Given the description of an element on the screen output the (x, y) to click on. 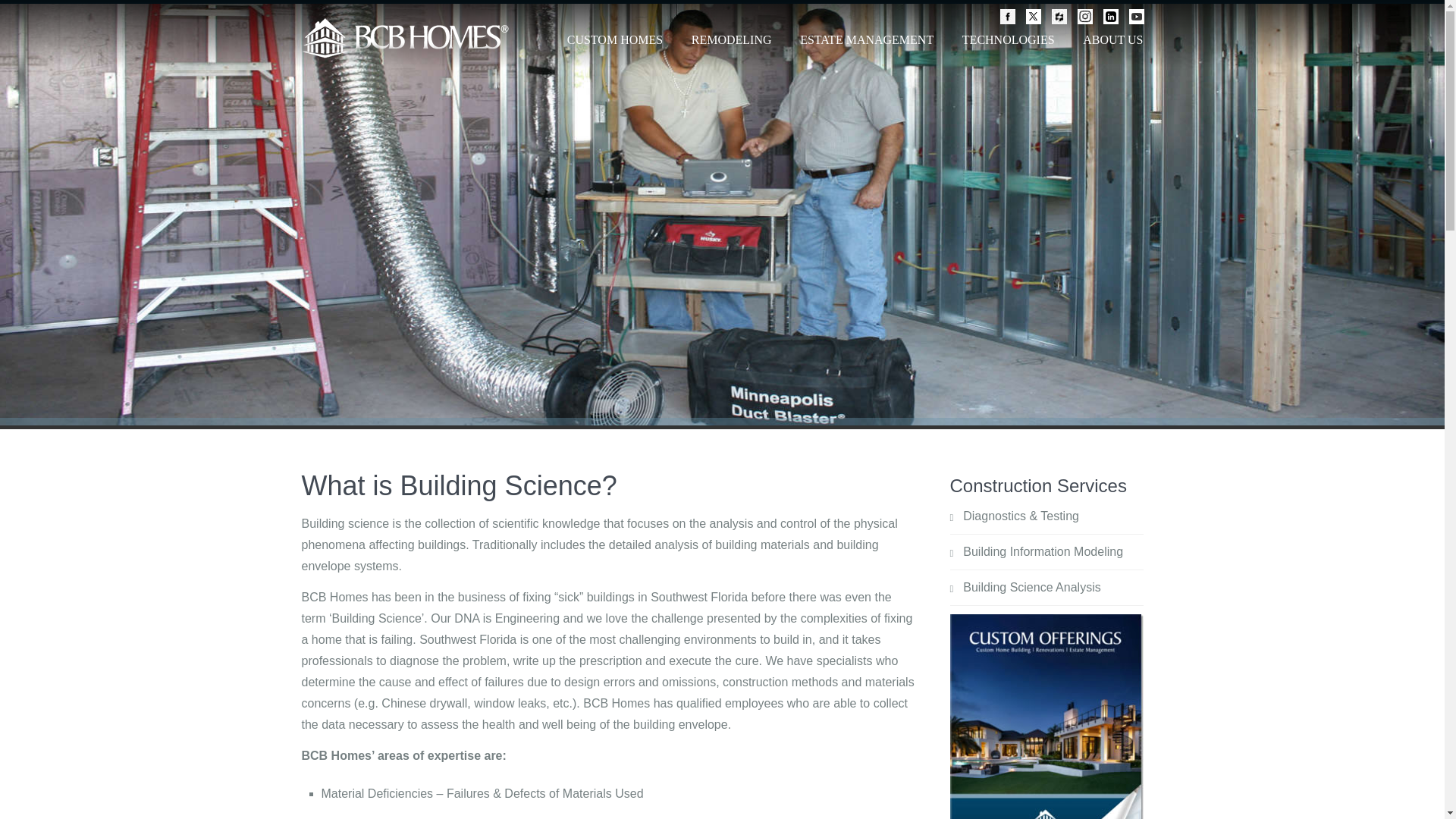
CUSTOM HOMES (614, 45)
